Given the description of an element on the screen output the (x, y) to click on. 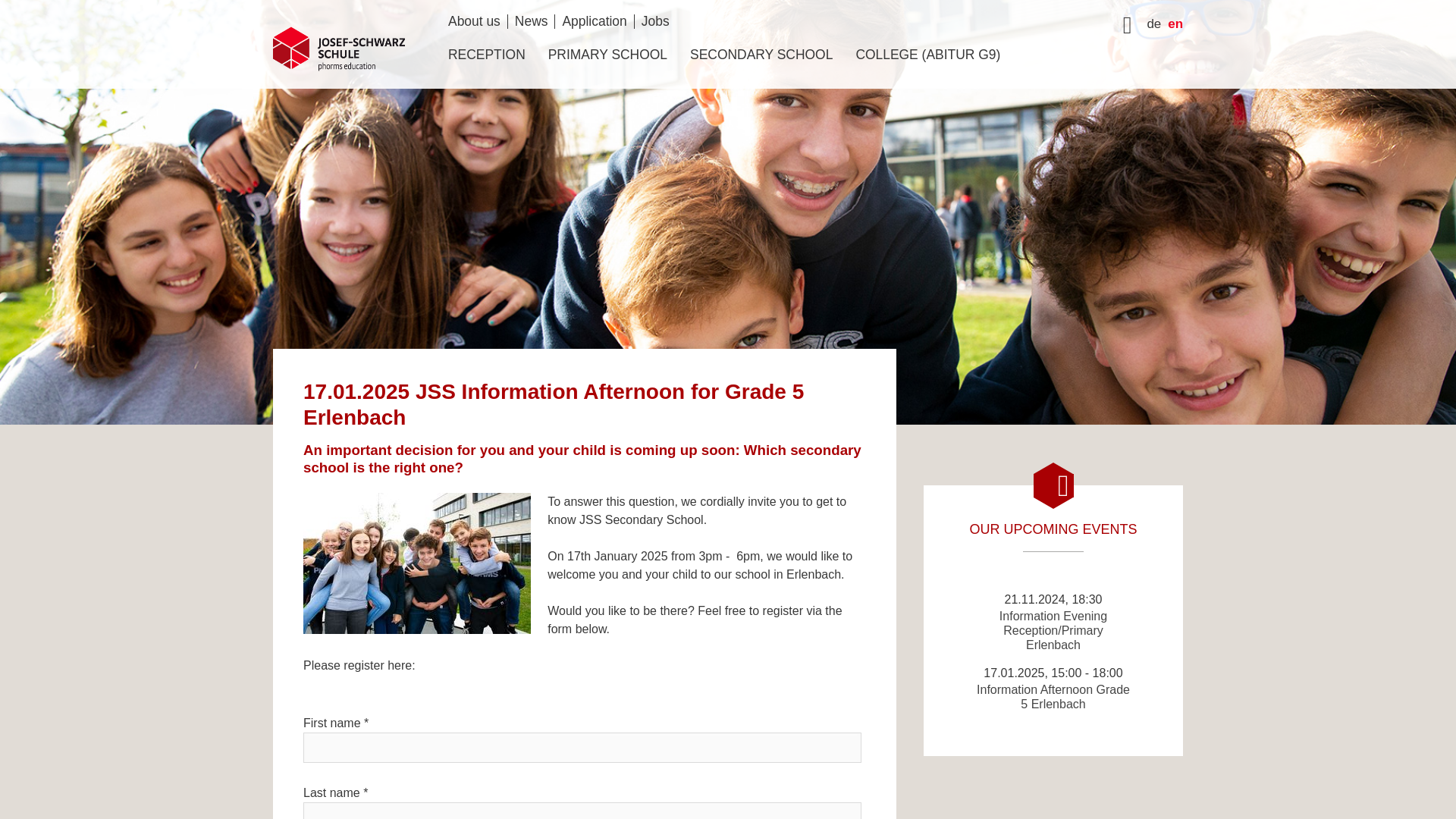
Information Afternoon Grade 5 Erlenbach (1053, 696)
en (1174, 23)
de (1153, 23)
About us (473, 21)
News (530, 21)
